Given the description of an element on the screen output the (x, y) to click on. 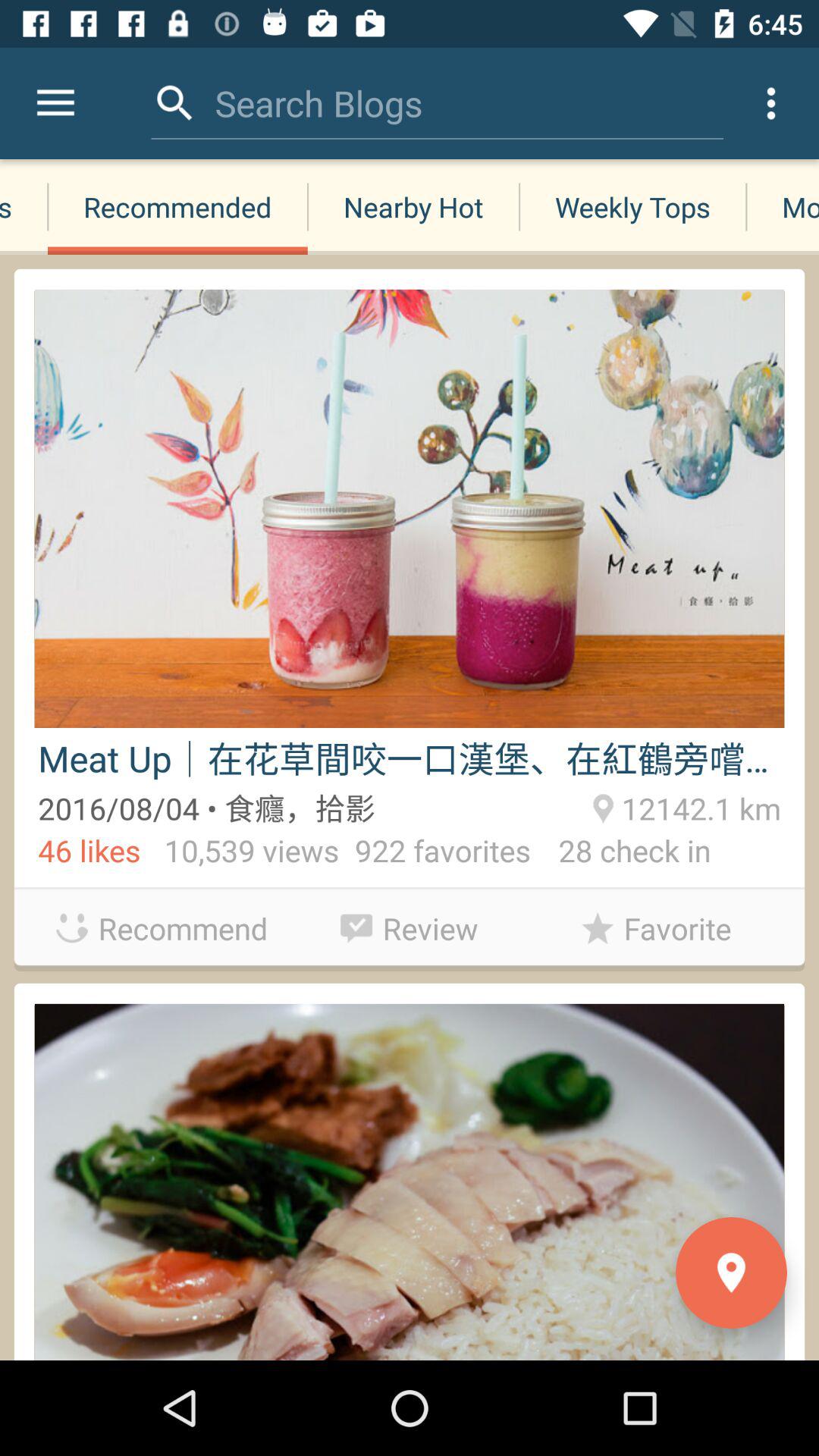
choose the 12142.1 km icon (698, 806)
